Given the description of an element on the screen output the (x, y) to click on. 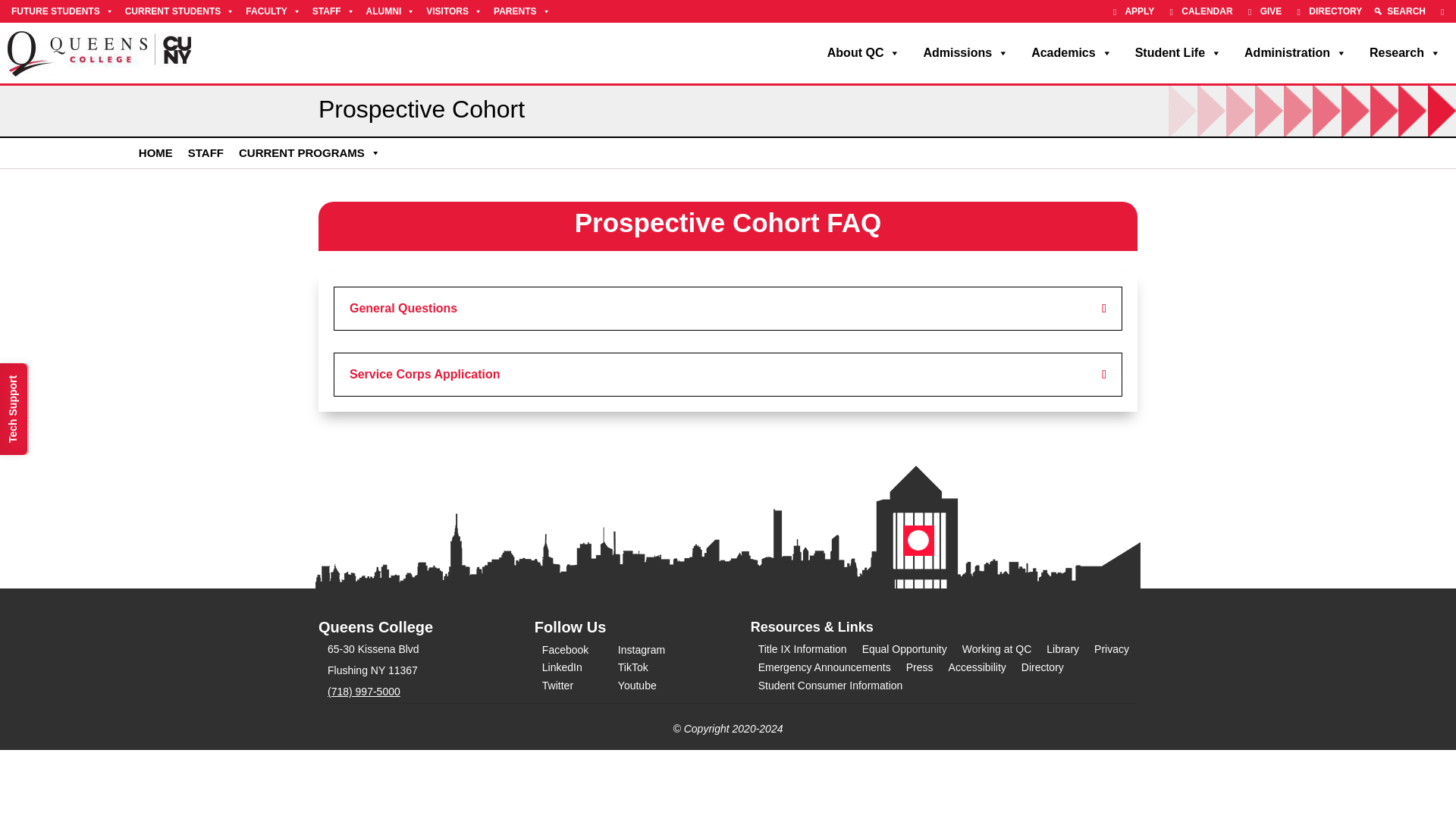
CURRENT STUDENTS (179, 11)
FUTURE STUDENTS (62, 11)
Tech Support (45, 378)
ALUMNI (390, 11)
STAFF (333, 11)
FACULTY (272, 11)
VISITORS (454, 11)
Queens College Logo (99, 52)
PARENTS (521, 11)
